Given the description of an element on the screen output the (x, y) to click on. 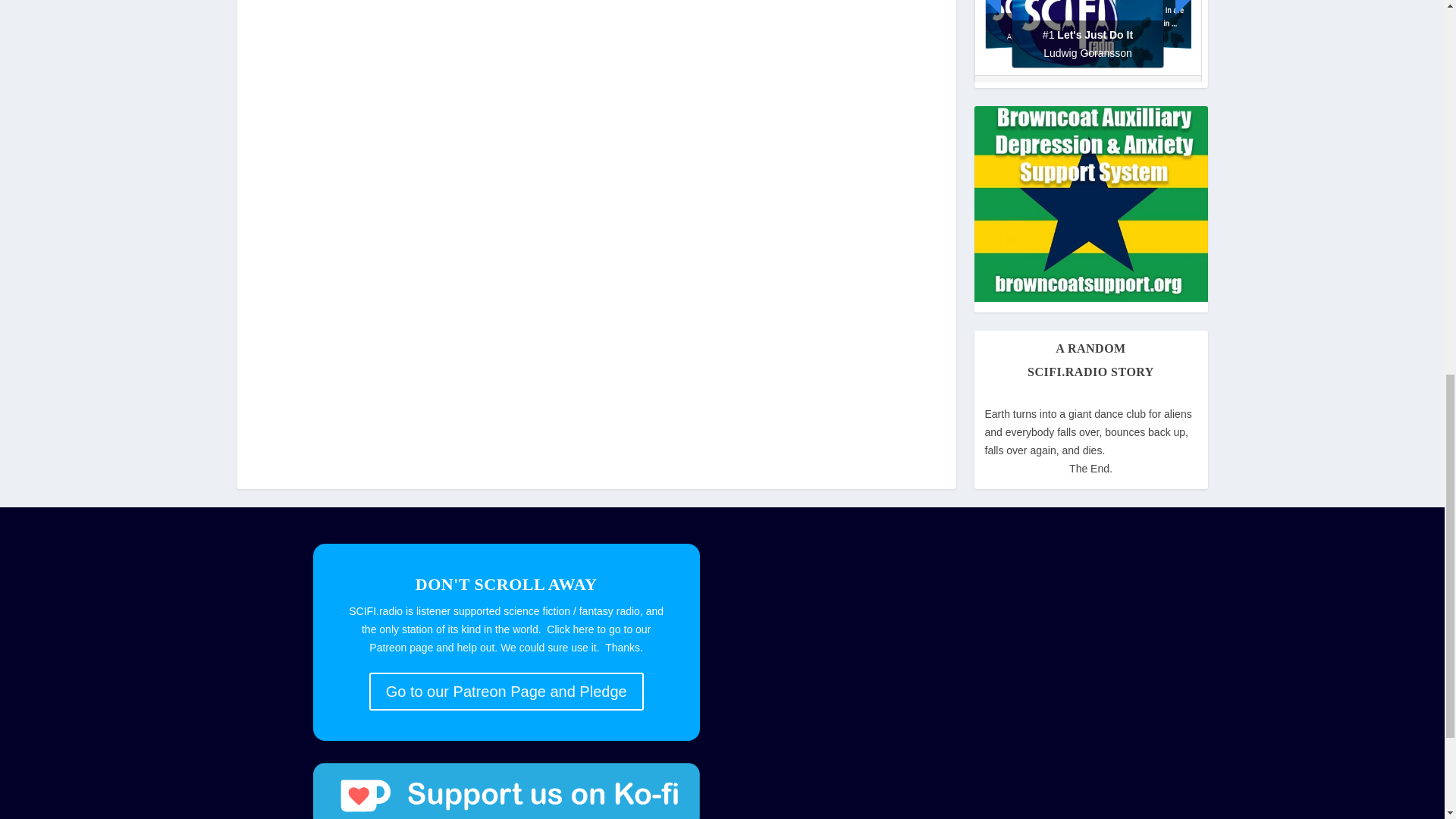
ko-fi-banner-300x51-1 (505, 790)
